Given the description of an element on the screen output the (x, y) to click on. 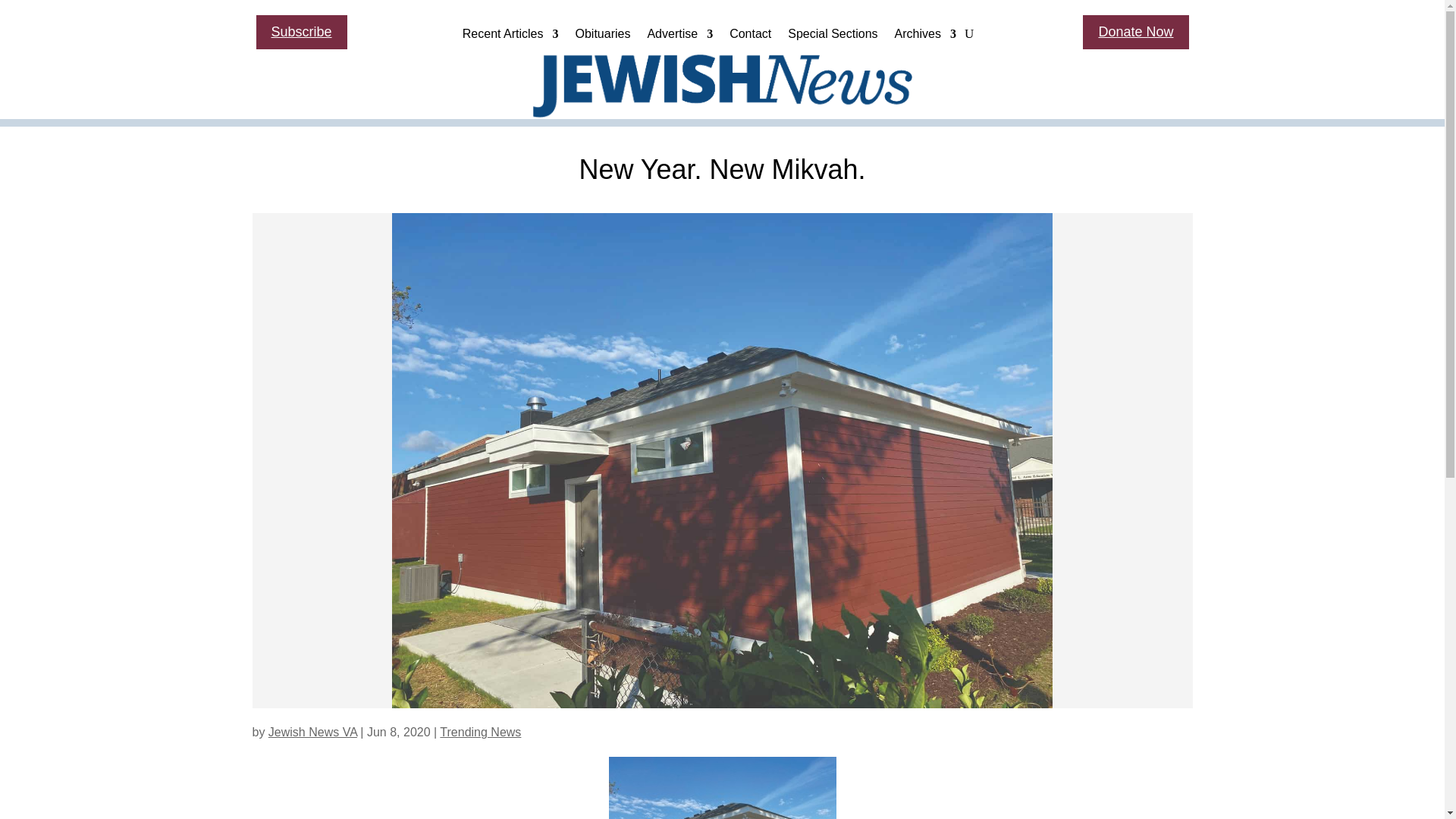
Contact (750, 37)
Recent Articles (511, 37)
Donate Now (1135, 32)
Special Sections (832, 37)
Archives (925, 37)
Posts by Jewish News VA (311, 731)
Subscribe (301, 32)
Obituaries (602, 37)
Advertise (679, 37)
